Given the description of an element on the screen output the (x, y) to click on. 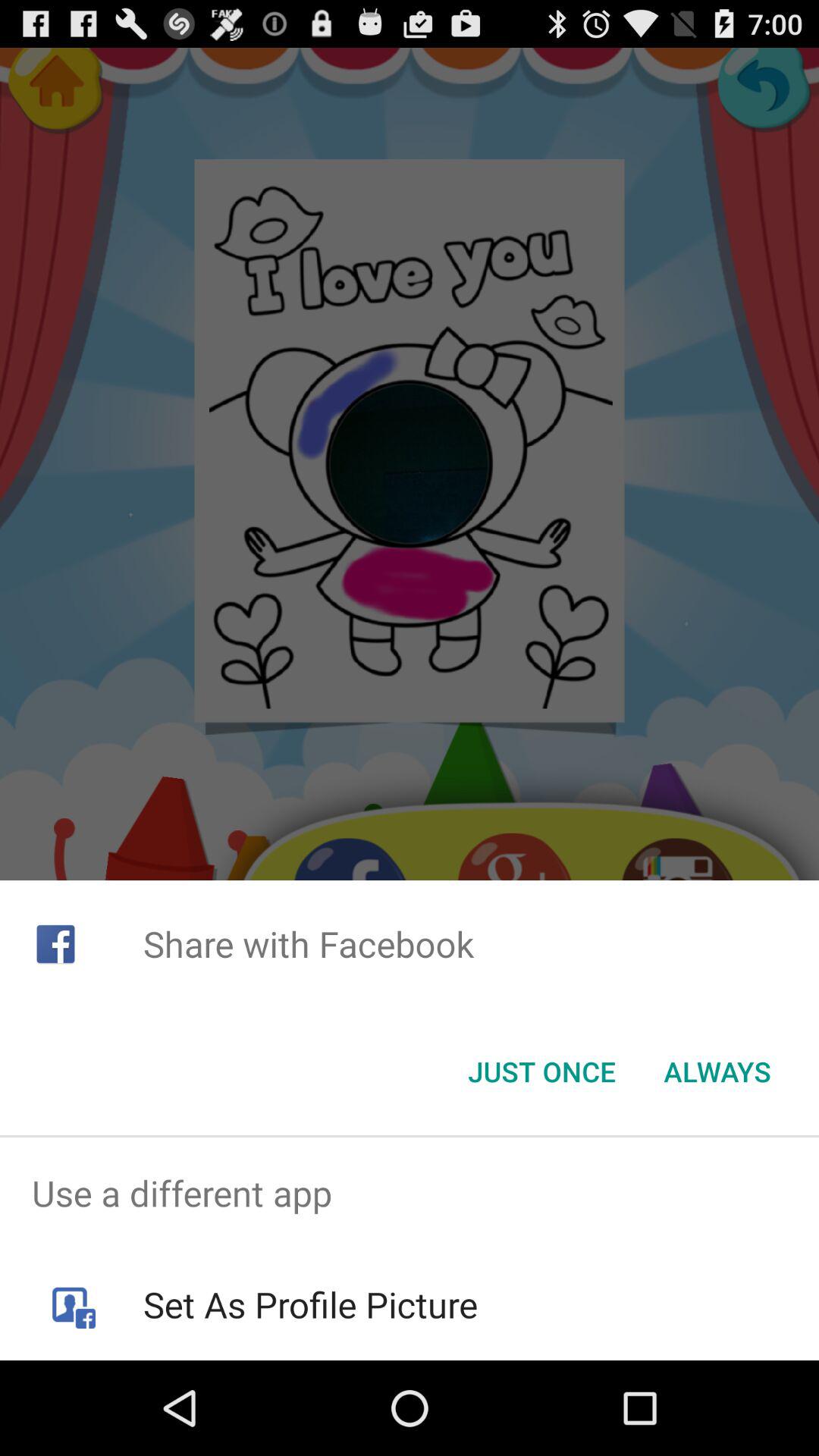
launch the set as profile icon (310, 1304)
